Given the description of an element on the screen output the (x, y) to click on. 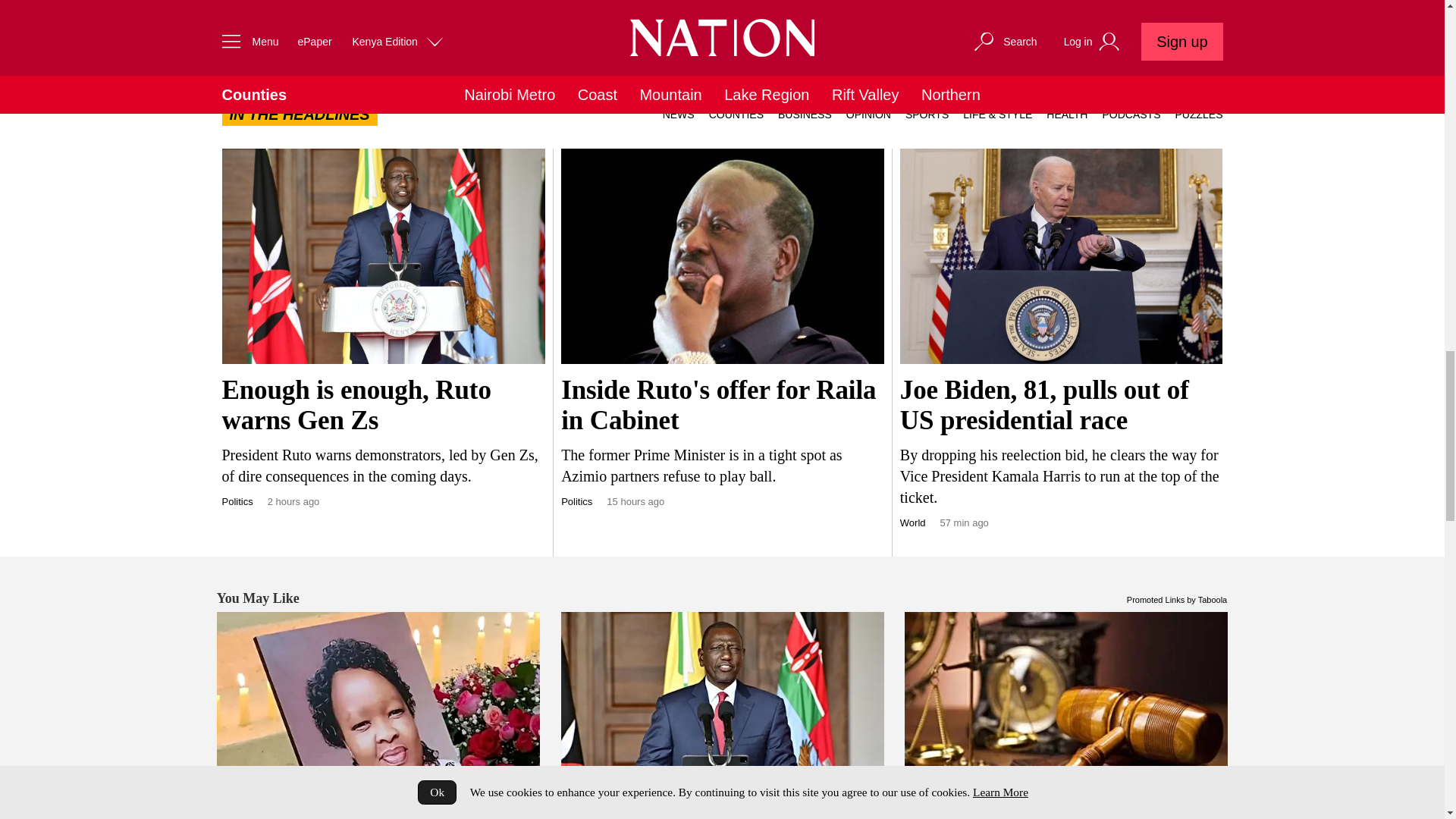
Husband arrested as wife's dismembered body found in Nandi (378, 715)
